Given the description of an element on the screen output the (x, y) to click on. 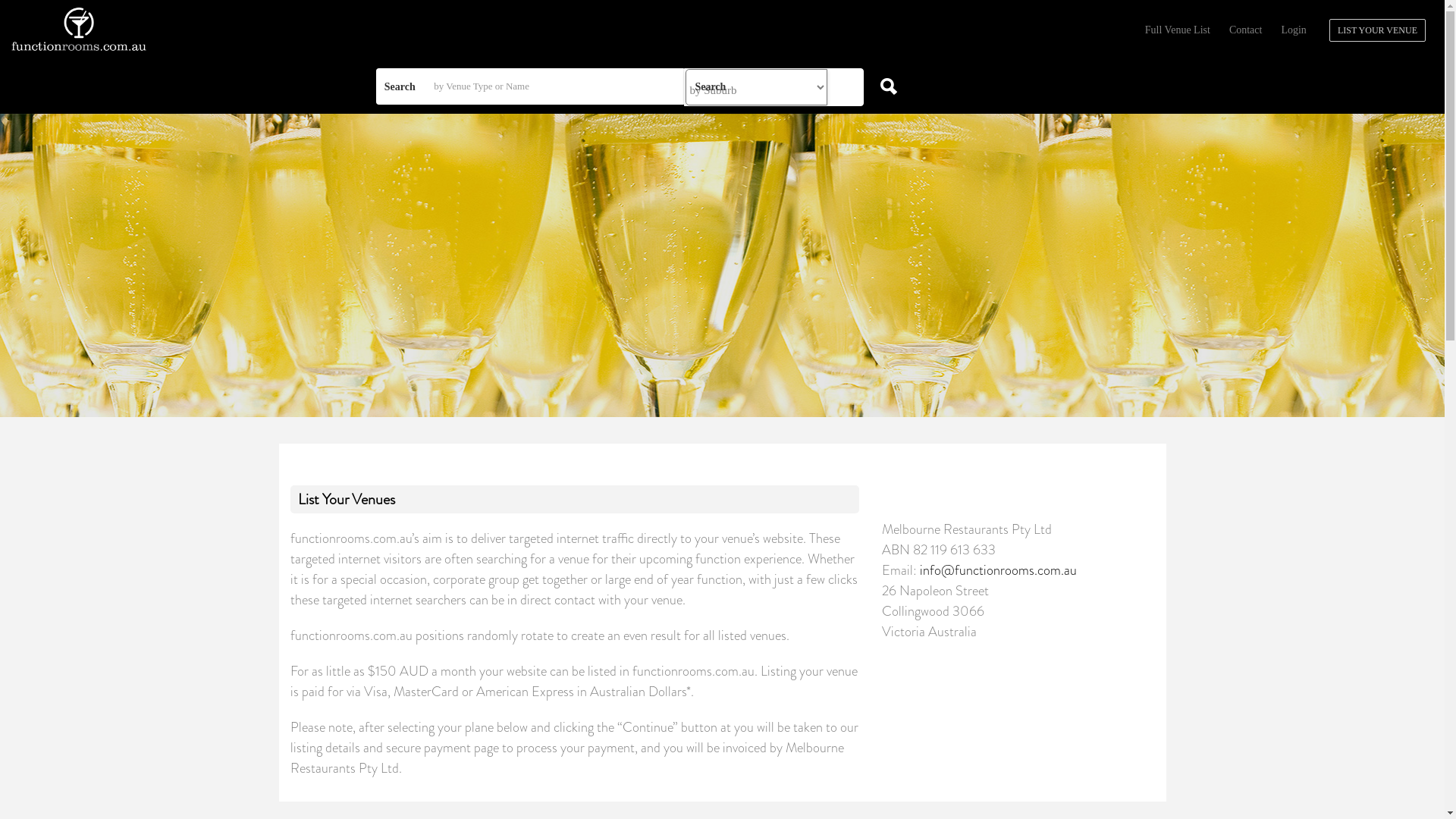
LIST YOUR VENUE Element type: text (1377, 29)
Sign in Element type: text (721, 494)
Full Venue List Element type: text (1183, 29)
Login Element type: text (1302, 29)
info@functionrooms.com.au Element type: text (997, 570)
Contact Element type: text (1251, 29)
